Given the description of an element on the screen output the (x, y) to click on. 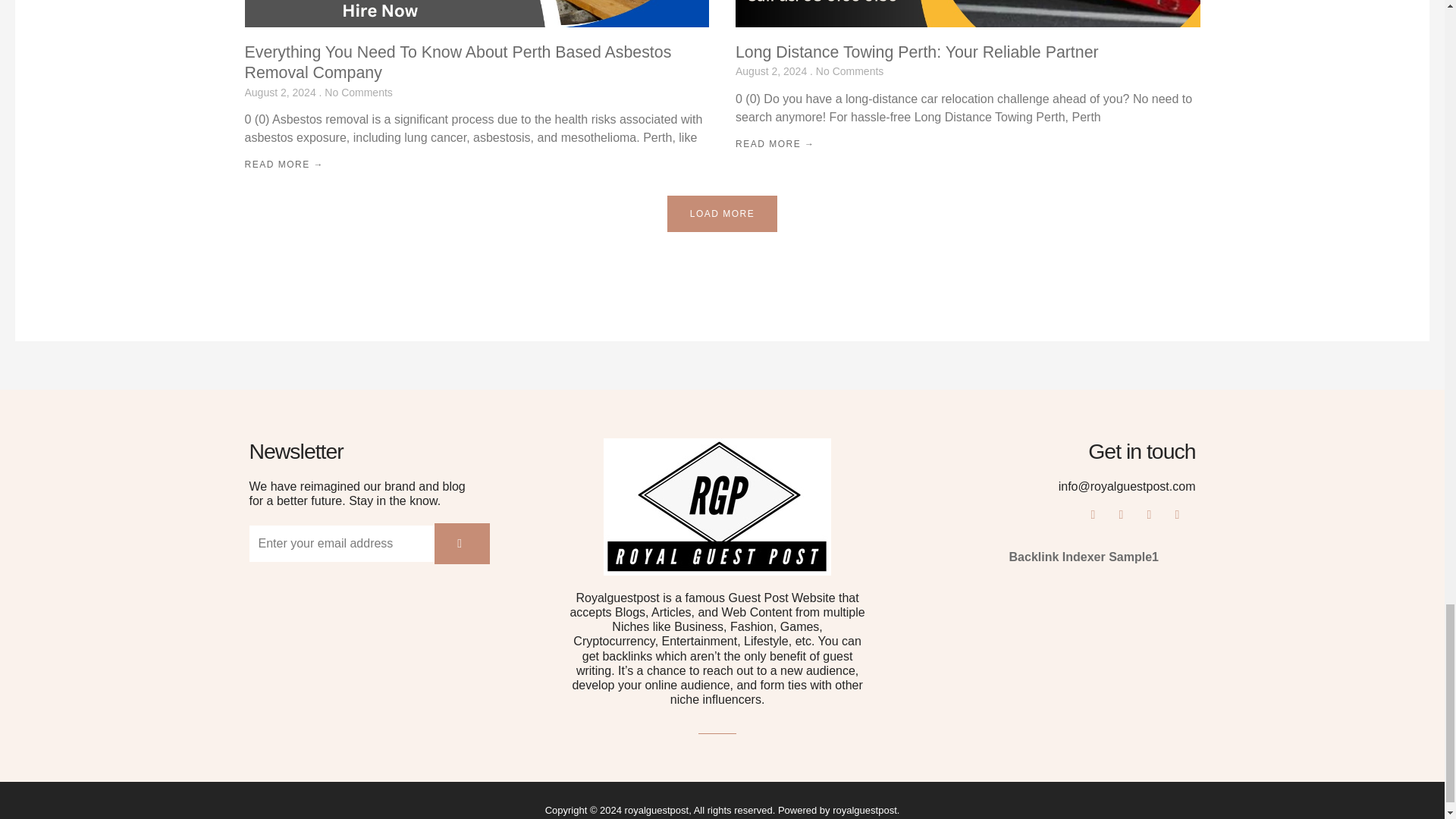
LOAD MORE (721, 213)
Long Distance Towing Perth: Your Reliable Partner (917, 52)
